Given the description of an element on the screen output the (x, y) to click on. 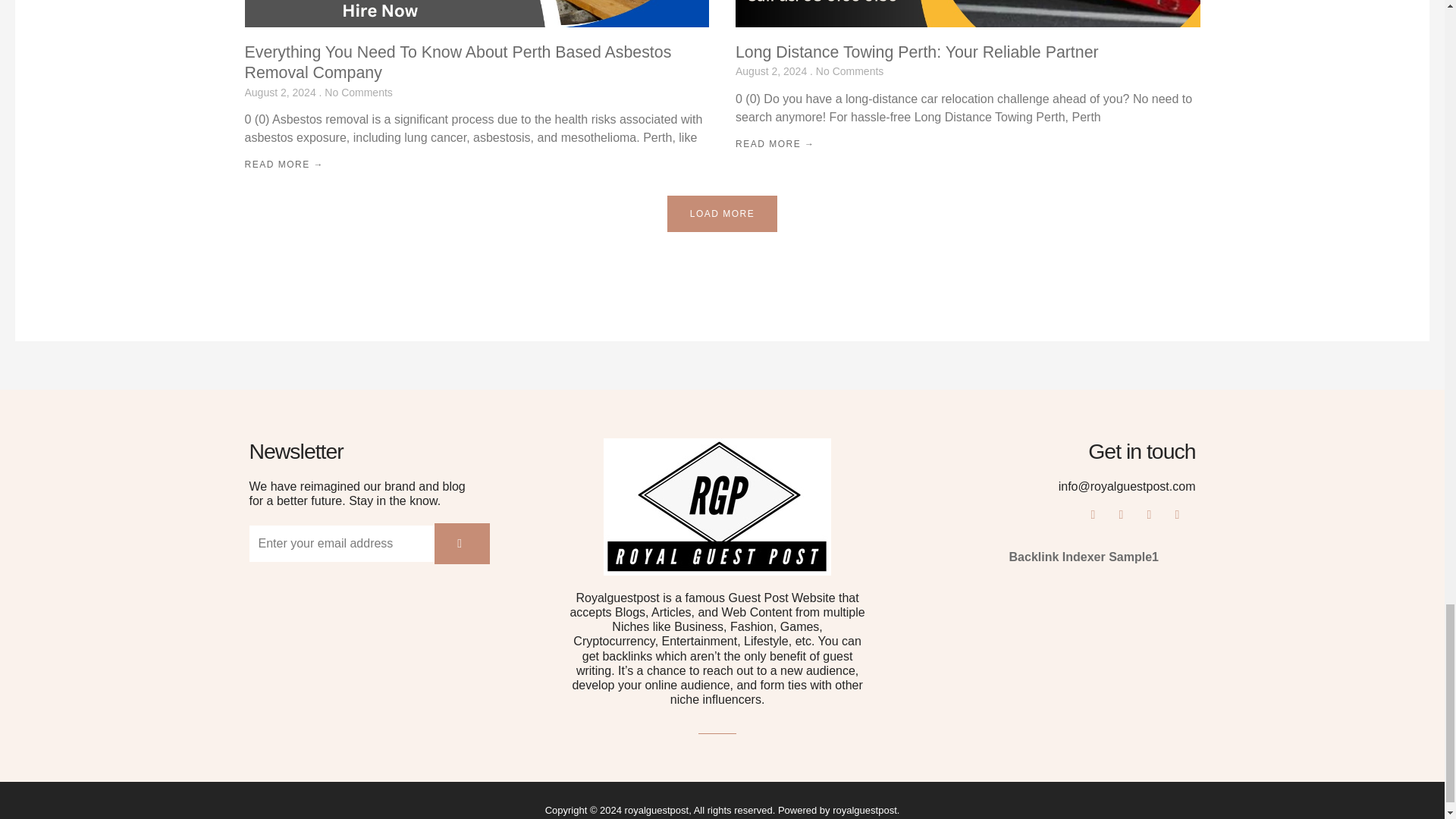
LOAD MORE (721, 213)
Long Distance Towing Perth: Your Reliable Partner (917, 52)
